Given the description of an element on the screen output the (x, y) to click on. 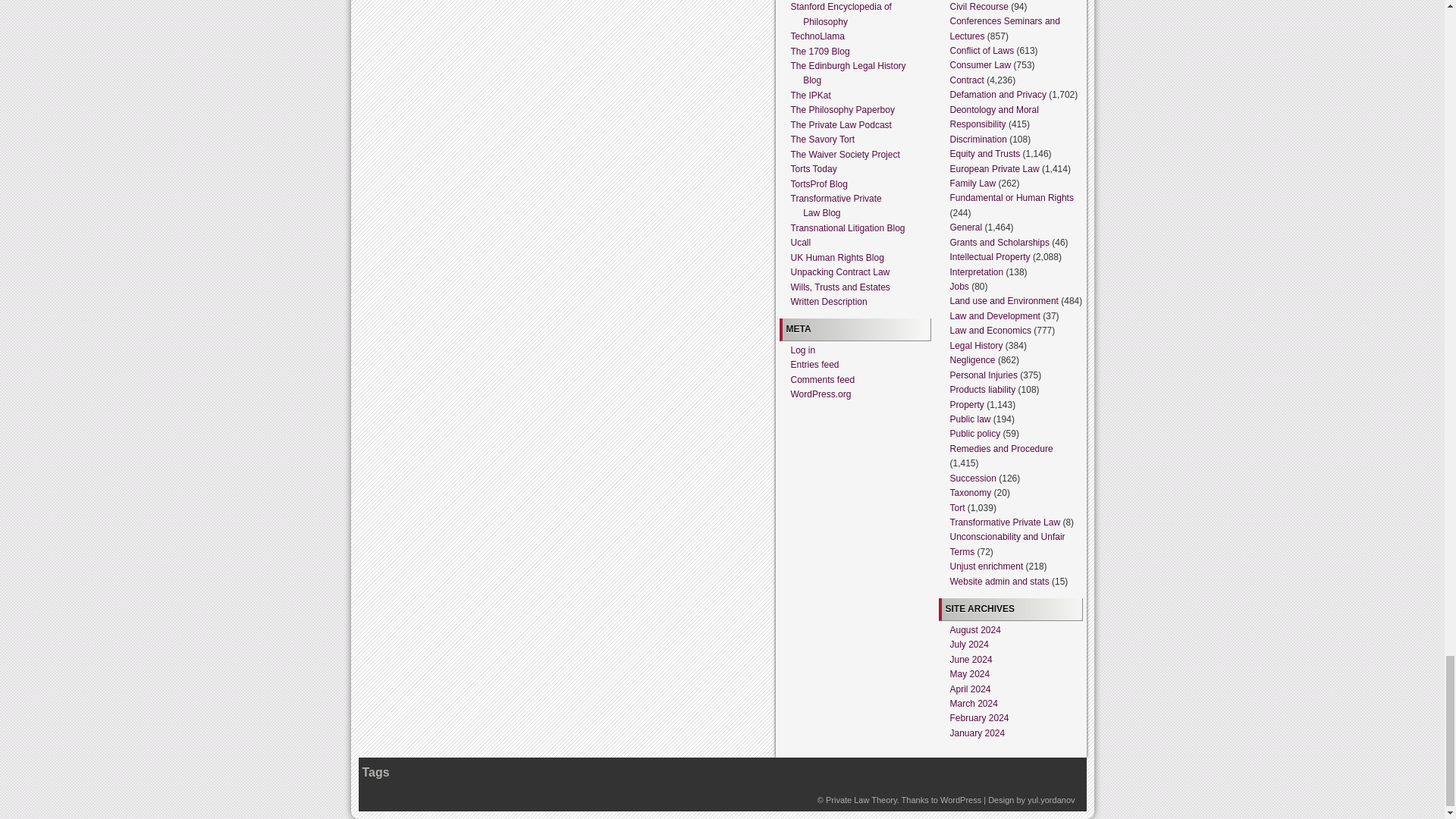
Obligations, Property, Legal Theory (860, 799)
